Given the description of an element on the screen output the (x, y) to click on. 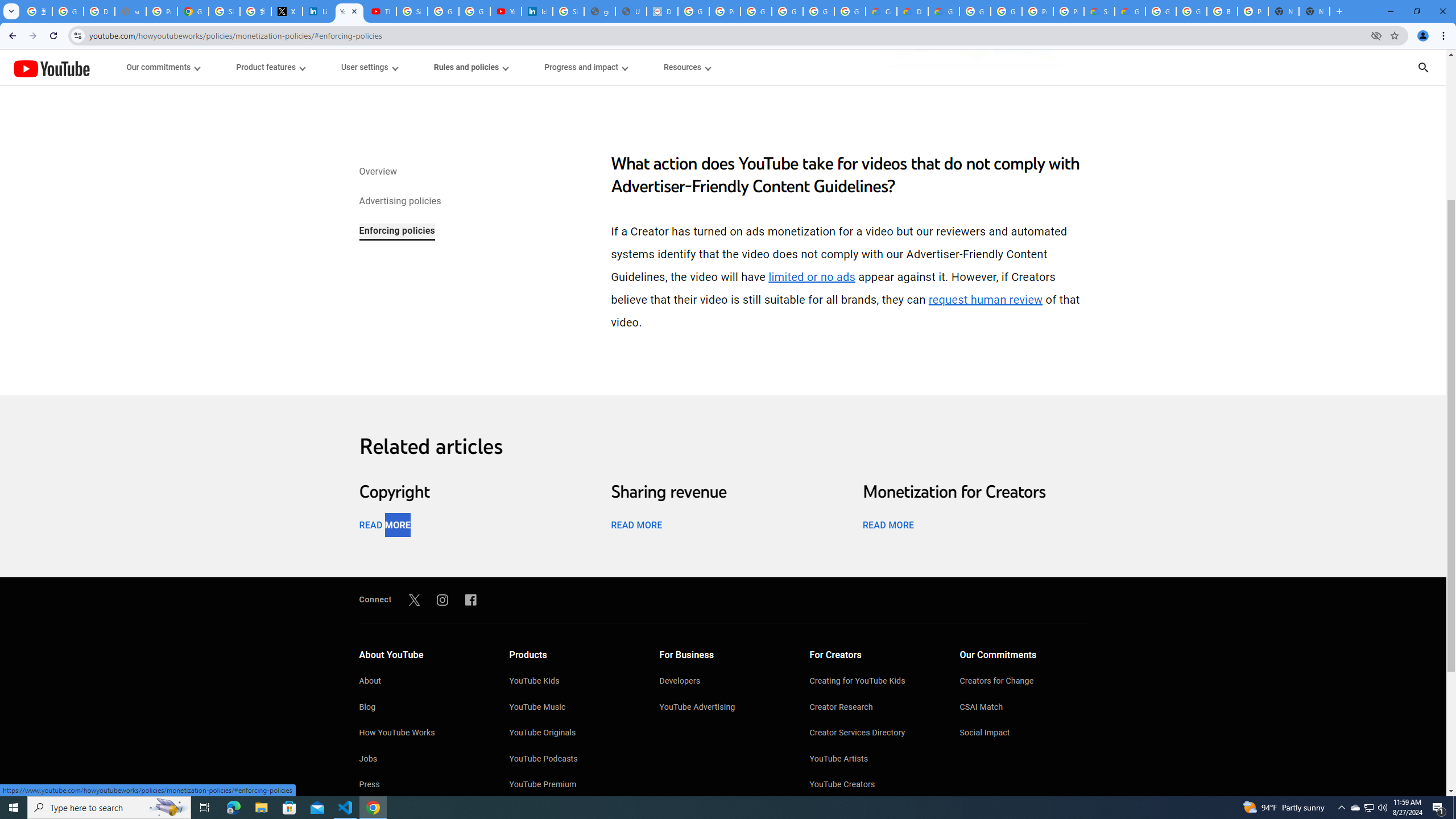
request human review (985, 300)
Developers (723, 682)
Data Privacy Framework (662, 11)
YouTube Originals (573, 733)
How YouTube Works (422, 733)
CSAI Match (1023, 708)
Rules and policies menupopup (470, 67)
Enforcing policies (396, 231)
Sign in - Google Accounts (223, 11)
